Given the description of an element on the screen output the (x, y) to click on. 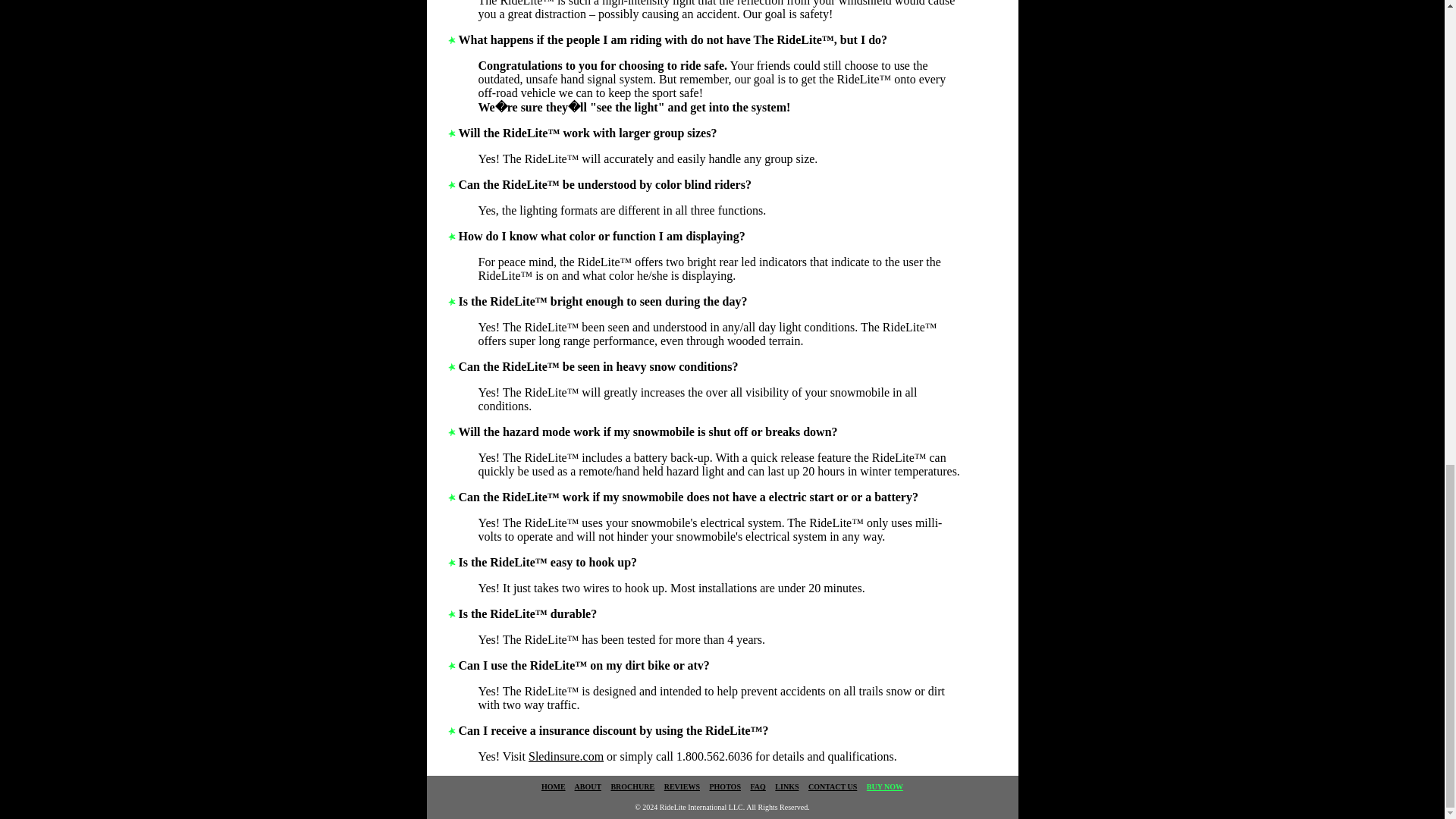
PHOTOS (725, 786)
FAQ (757, 786)
REVIEWS (681, 786)
HOME (553, 786)
BROCHURE (631, 786)
BUY NOW (884, 786)
LINKS (785, 786)
ABOUT (588, 786)
CONTACT US (832, 786)
Sledinsure.com (566, 756)
